Given the description of an element on the screen output the (x, y) to click on. 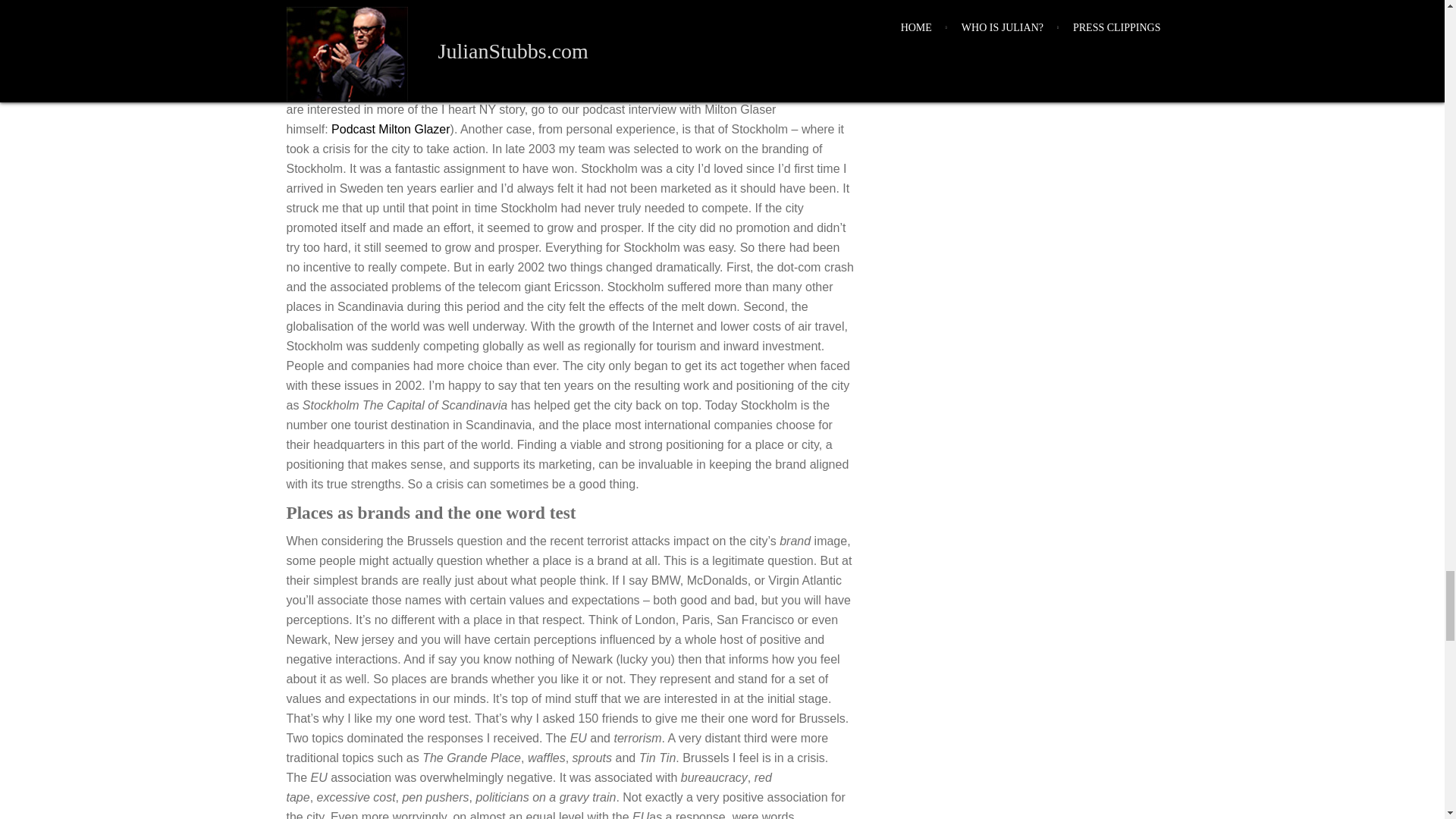
Podcast Milton Glazer (390, 128)
